Given the description of an element on the screen output the (x, y) to click on. 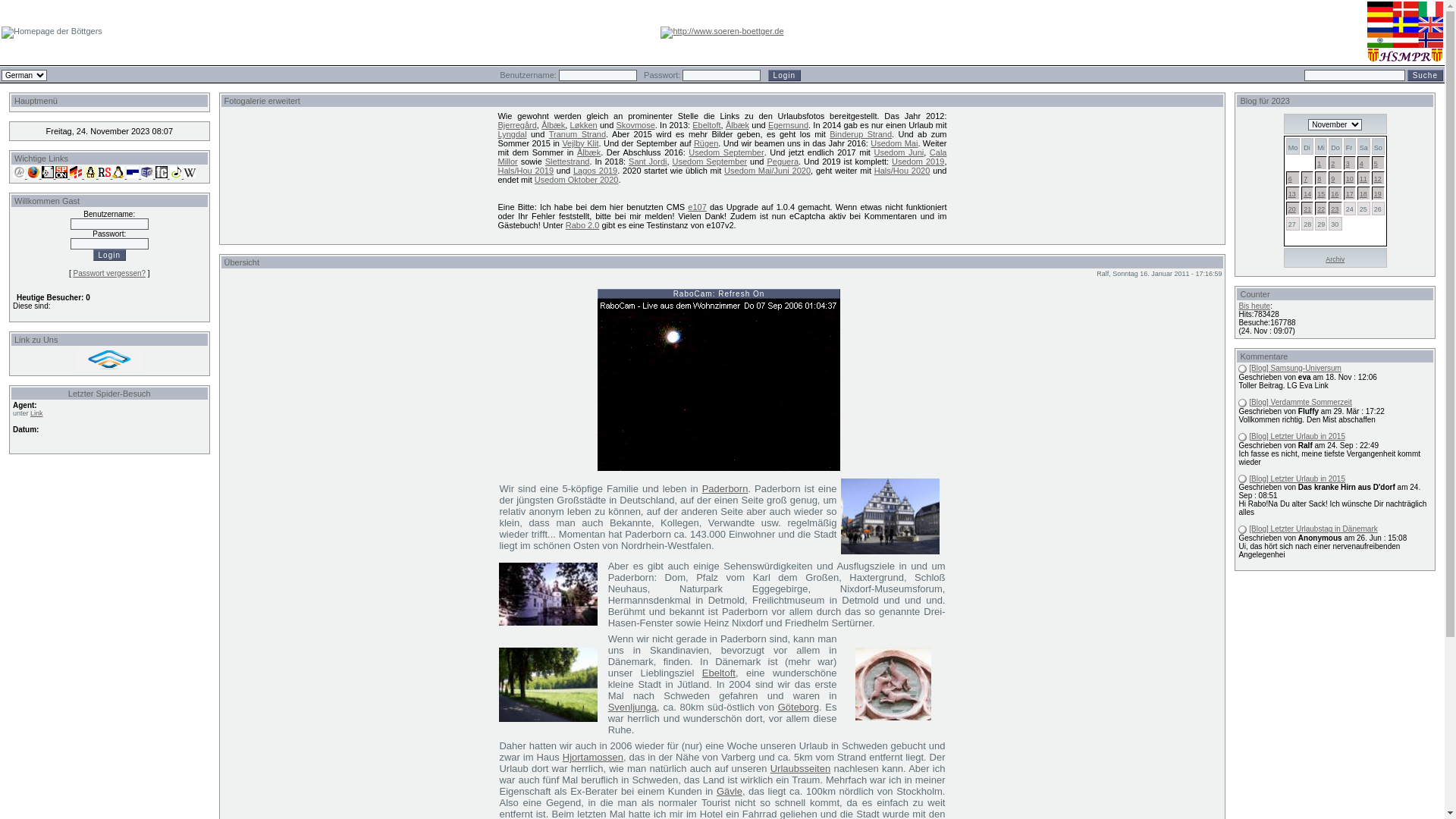
21 Element type: text (1307, 209)
Heise online Element type: hover (18, 175)
Lyngdal Element type: text (511, 133)
Rathaus Paderborn Element type: hover (889, 516)
Wikipedia DE Element type: hover (189, 175)
Hals/Hou 2019 Element type: text (525, 170)
13 Element type: text (1291, 193)
Vejlby Klit Element type: text (579, 142)
2 Element type: text (1332, 163)
3 Hasen-Fenster Element type: hover (893, 683)
e107 Element type: text (696, 206)
Login Element type: text (784, 75)
Login Element type: text (109, 254)
Bis heute Element type: text (1254, 305)
WDR Element type: hover (131, 175)
Hjortamossen Element type: text (592, 756)
12 Element type: text (1377, 178)
Kicker online Element type: hover (46, 175)
Paderborn Element type: text (725, 488)
Ebeltoft Element type: text (718, 672)
22 Element type: text (1320, 209)
Usedom September Element type: text (708, 161)
Sant Jordi Element type: text (647, 161)
17 Element type: text (1349, 193)
DK-Forum Element type: hover (74, 175)
3 Element type: text (1347, 163)
4 Element type: text (1361, 163)
8 Element type: text (1319, 178)
Archiv Element type: text (1334, 259)
Cala Millor Element type: text (721, 156)
23 Element type: text (1334, 209)
Usedom Mai/Juni 2020 Element type: text (767, 170)
Passwort vergessen? Element type: text (108, 273)
Usedom Mai Element type: text (893, 142)
I have a dreambox Element type: hover (117, 175)
14 Element type: text (1307, 193)
Haxtergrund bei PB Element type: hover (547, 684)
[Blog] Verdammte Sommerzeit Element type: text (1300, 402)
Tranum Strand Element type: text (577, 133)
Slettestrand Element type: text (567, 161)
Linux Org Element type: hover (88, 175)
Lagos 2019 Element type: text (595, 170)
Ebeltoft Element type: text (706, 124)
Svenljunga Element type: text (632, 706)
1 Element type: text (1319, 163)
18 Element type: text (1363, 193)
16 Element type: text (1334, 193)
e107.org Element type: hover (145, 175)
10 Element type: text (1349, 178)
Spiegel online Element type: hover (60, 175)
Rolling Stone D Element type: hover (103, 175)
Hals/Hou 2020 Element type: text (902, 170)
19 Element type: text (1377, 193)
[Blog] Samsung-Universum Element type: text (1294, 368)
Peguera Element type: text (782, 161)
15 Element type: text (1320, 193)
Usedom Juni Element type: text (898, 151)
[Blog] Letzter Urlaub in 2015 Element type: text (1296, 436)
Suche Element type: text (1425, 75)
20 Element type: text (1291, 209)
Firefox Browser Element type: hover (32, 175)
7 Element type: text (1305, 178)
9 Element type: text (1332, 178)
Usedom September Element type: text (725, 151)
Link Element type: text (36, 413)
Rabo 2.0 Element type: text (582, 224)
Foto-Community Element type: hover (160, 175)
5 Element type: text (1375, 163)
Binderup Strand Element type: text (860, 133)
Usedom 2019 Element type: text (917, 161)
Egernsund Element type: text (788, 124)
Musicportl Element type: hover (174, 175)
Usedom Oktober 2020 Element type: text (576, 179)
[Blog] Letzter Urlaub in 2015 Element type: text (1296, 478)
11 Element type: text (1363, 178)
6 Element type: text (1290, 178)
Urlaubsseiten Element type: text (800, 768)
Skovmose Element type: text (634, 124)
